Given the description of an element on the screen output the (x, y) to click on. 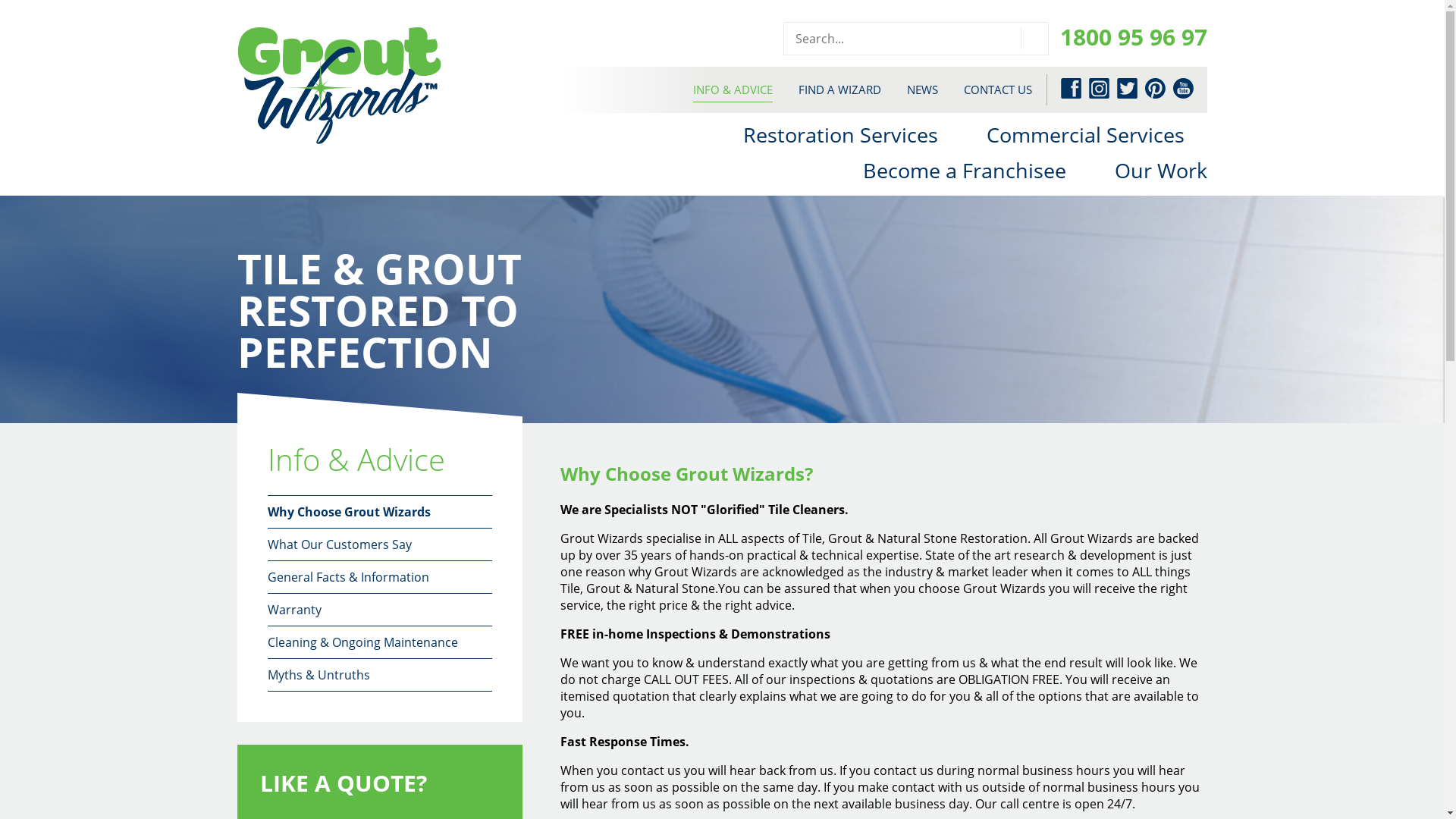
FIND A WIZARD Element type: text (839, 89)
NEWS Element type: text (922, 89)
Why Choose Grout Wizards Element type: text (379, 511)
INFO & ADVICE Element type: text (732, 89)
Our Work Element type: text (1160, 170)
Myths & Untruths Element type: text (379, 674)
What Our Customers Say Element type: text (379, 544)
CONTACT US Element type: text (997, 89)
Become a Franchisee Element type: text (964, 170)
General Facts & Information Element type: text (379, 577)
Restoration Services Element type: text (840, 134)
Warranty Element type: text (379, 609)
Commercial Services Element type: text (1085, 134)
Cleaning & Ongoing Maintenance Element type: text (379, 642)
